Given the description of an element on the screen output the (x, y) to click on. 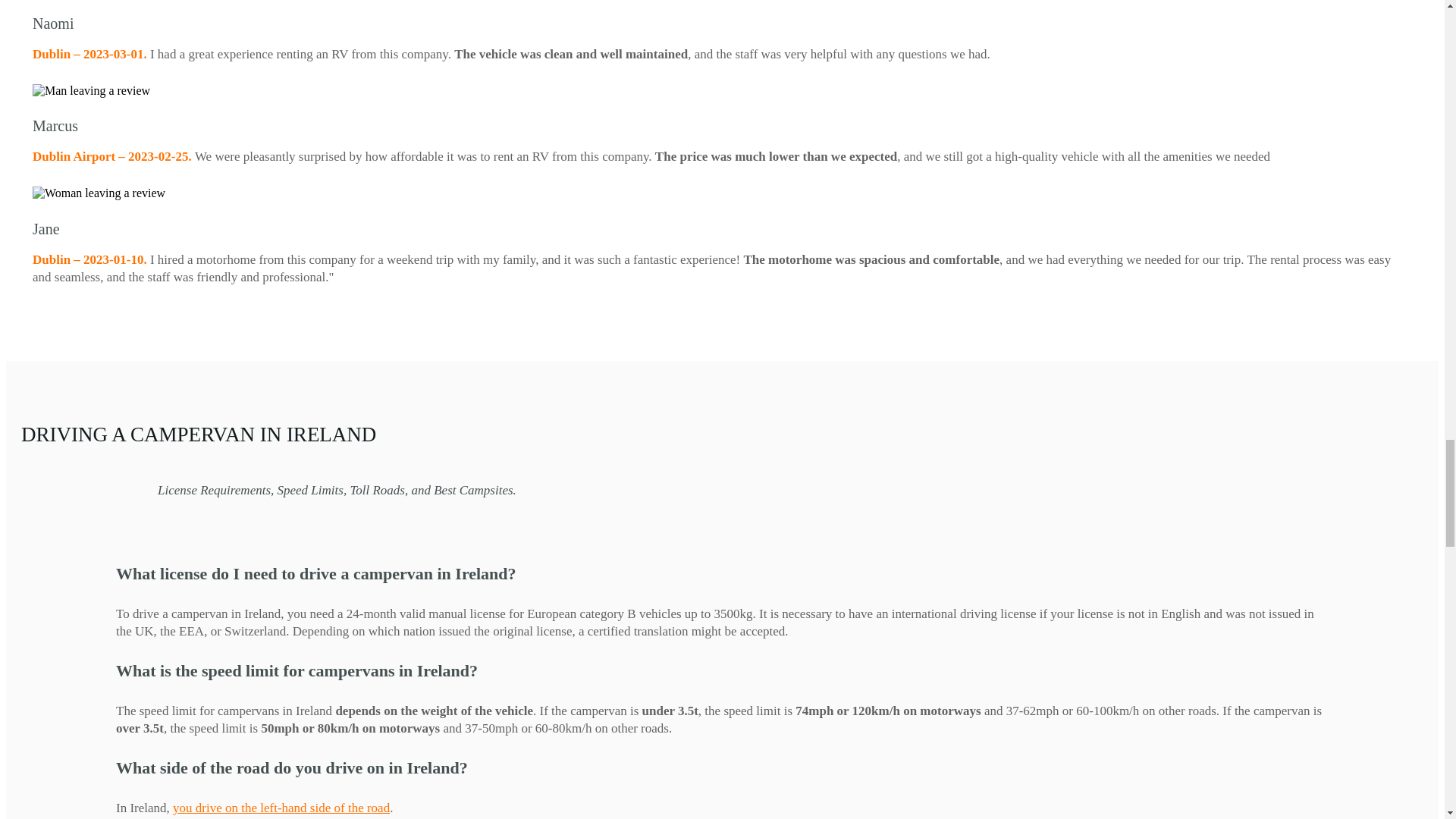
you drive on the left-hand side of the road (281, 807)
